Given the description of an element on the screen output the (x, y) to click on. 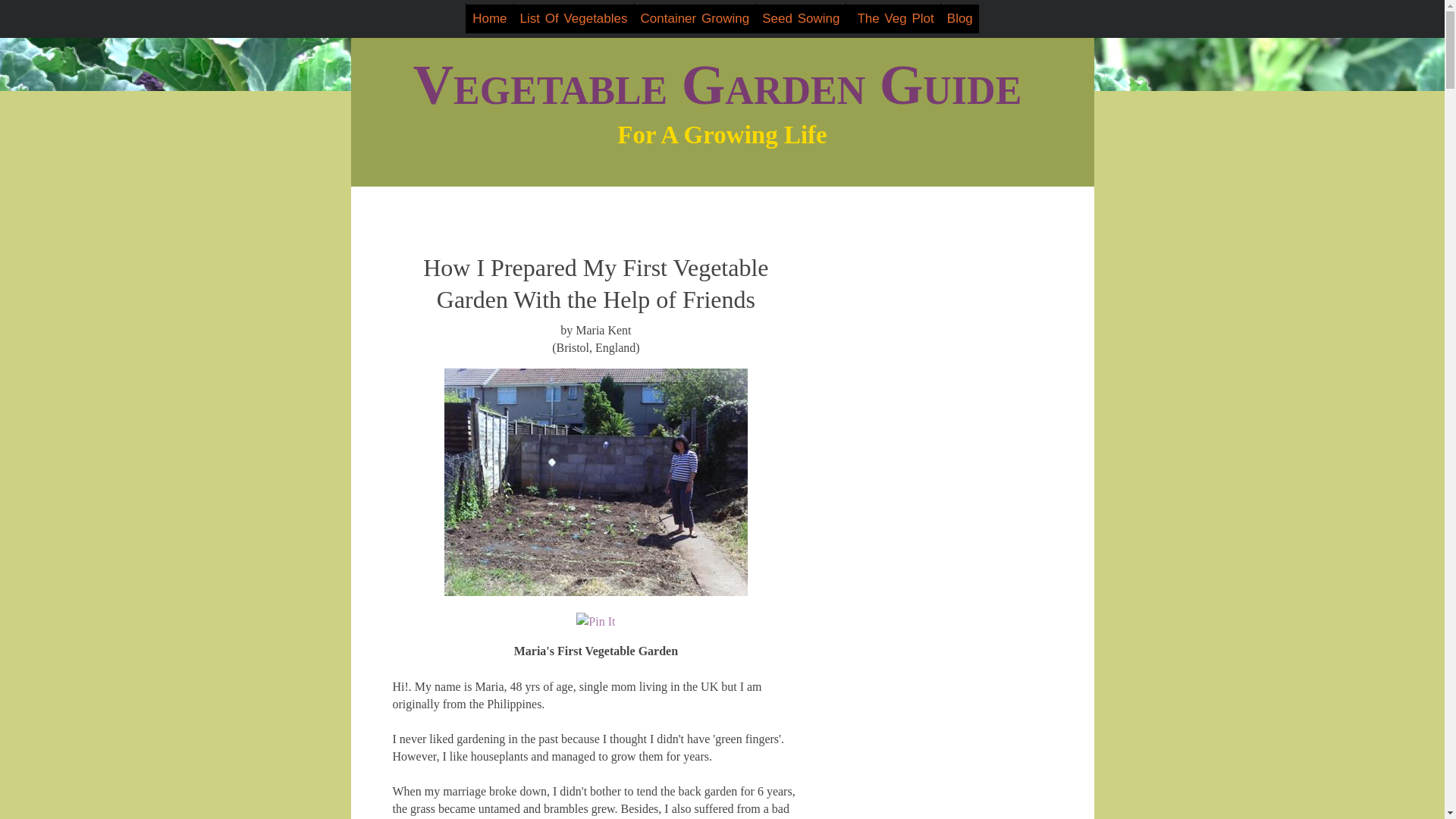
Pin It (595, 620)
Home (488, 18)
Vegetable Garden Guide (717, 85)
List Of Vegetables (573, 18)
Seed Sowing (800, 18)
Container Growing (694, 18)
Blog (959, 18)
Maria's First Vegetable Garden (596, 482)
